Given the description of an element on the screen output the (x, y) to click on. 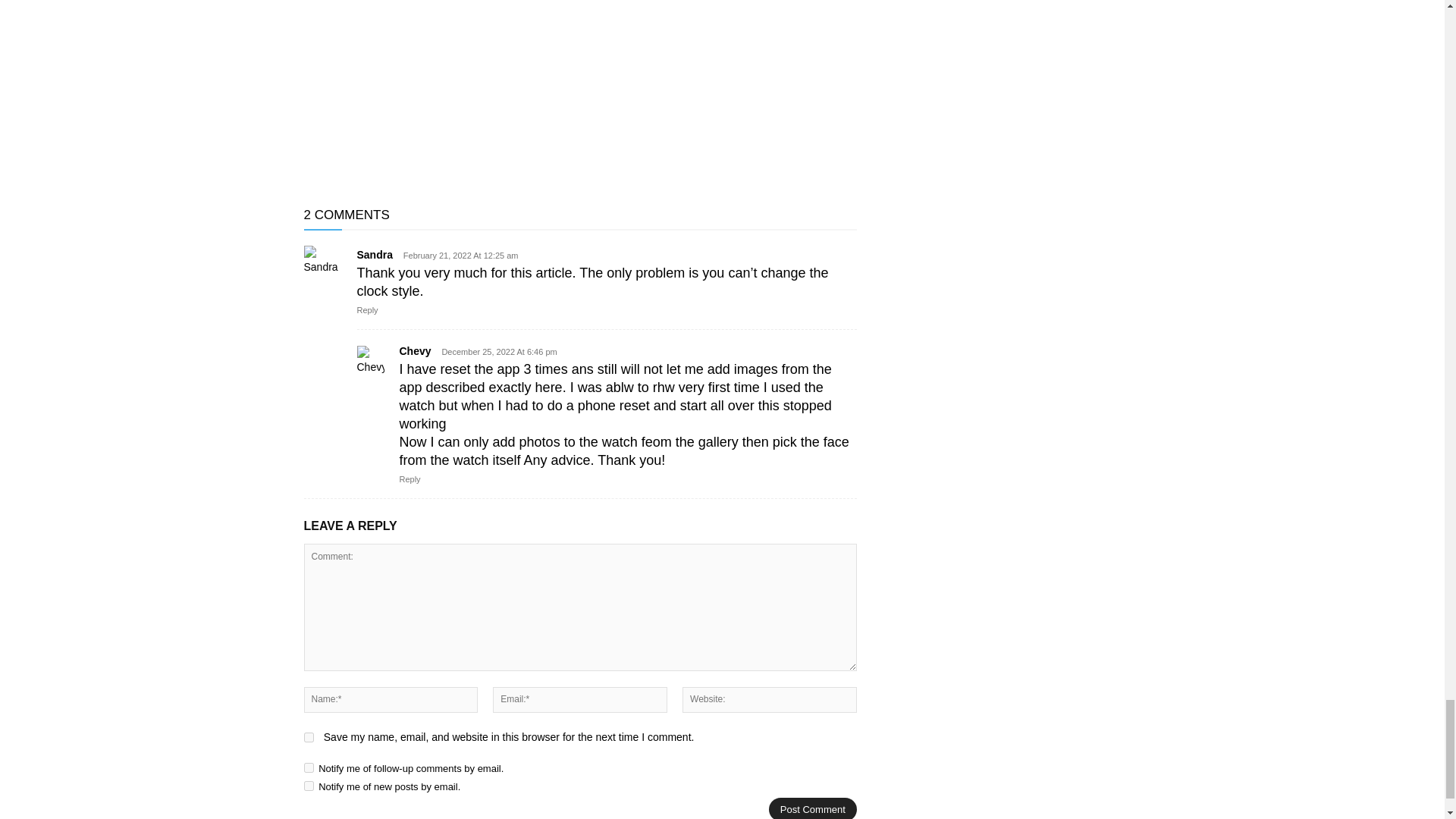
Post Comment (812, 808)
yes (307, 737)
subscribe (307, 786)
subscribe (307, 767)
